Given the description of an element on the screen output the (x, y) to click on. 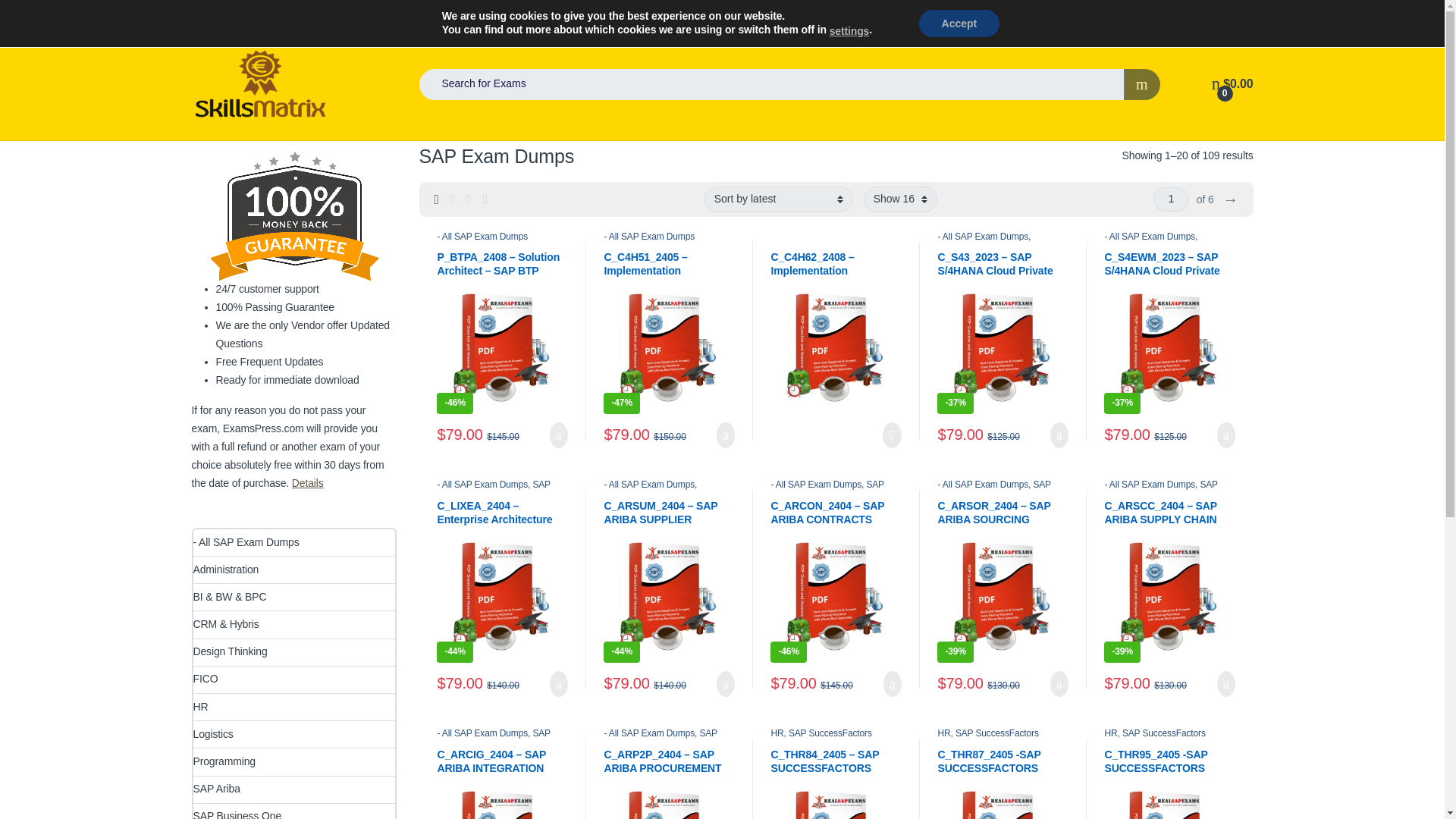
Wishlist Exams (443, 13)
Home (203, 13)
- All SAP Exam Dumps (481, 235)
About Us (1232, 13)
Browsing History (533, 13)
My Account (264, 13)
1 (1171, 199)
Terms of Service (1155, 13)
Home (203, 13)
Request an Exam (349, 13)
